Given the description of an element on the screen output the (x, y) to click on. 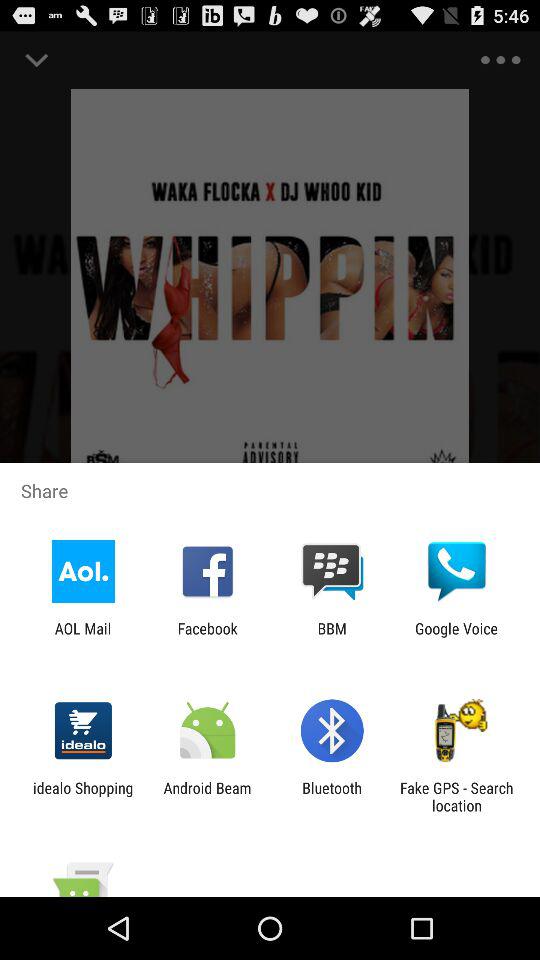
press the idealo shopping app (83, 796)
